Given the description of an element on the screen output the (x, y) to click on. 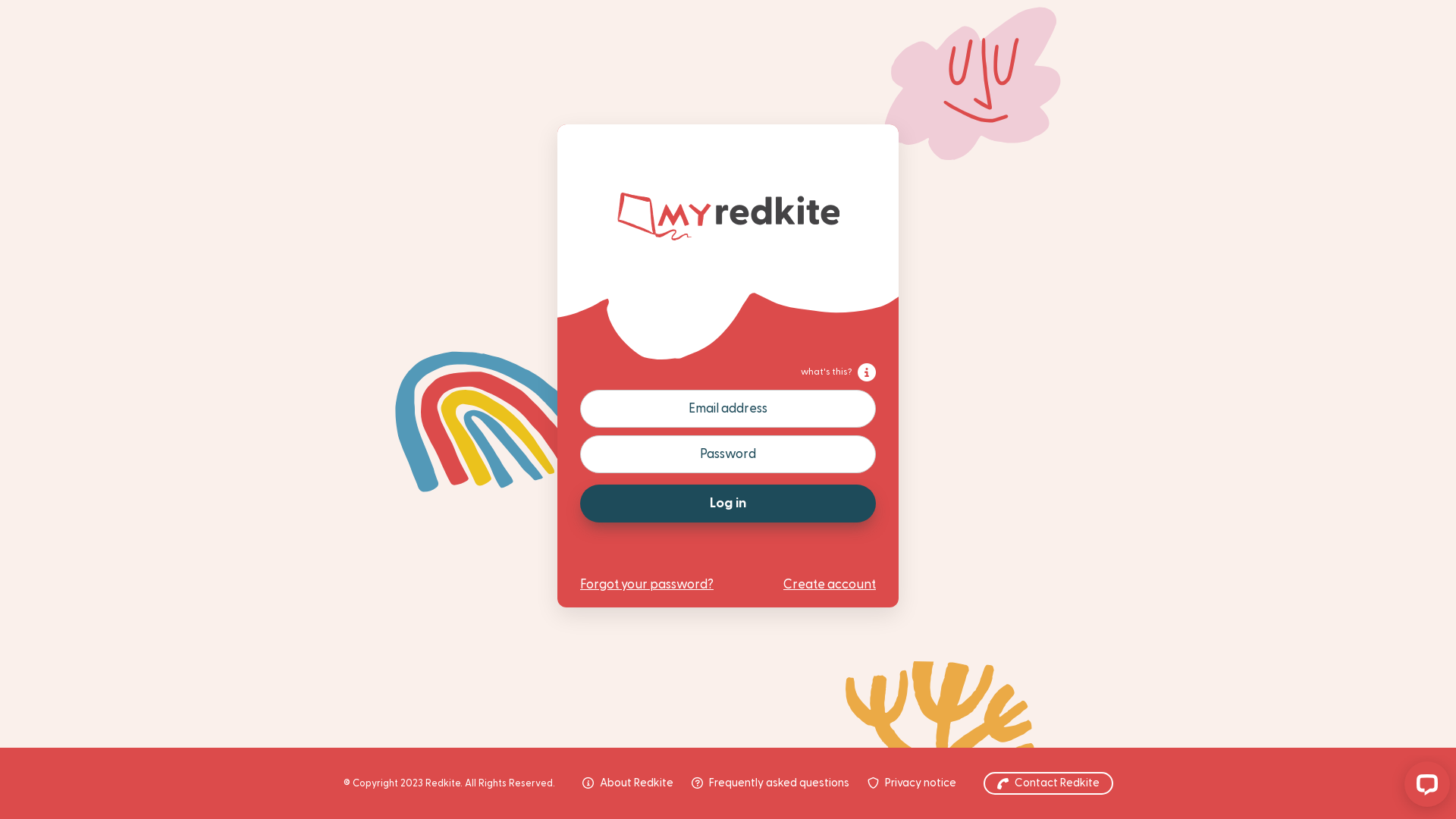
Privacy notice Element type: text (911, 783)
Frequently asked questions Element type: text (770, 783)
Create account Element type: text (829, 584)
Log in Element type: text (727, 503)
what's this? Element type: text (837, 372)
Forgot your password? Element type: text (646, 584)
Contact Redkite Element type: text (1047, 782)
About Redkite Element type: text (627, 783)
